Given the description of an element on the screen output the (x, y) to click on. 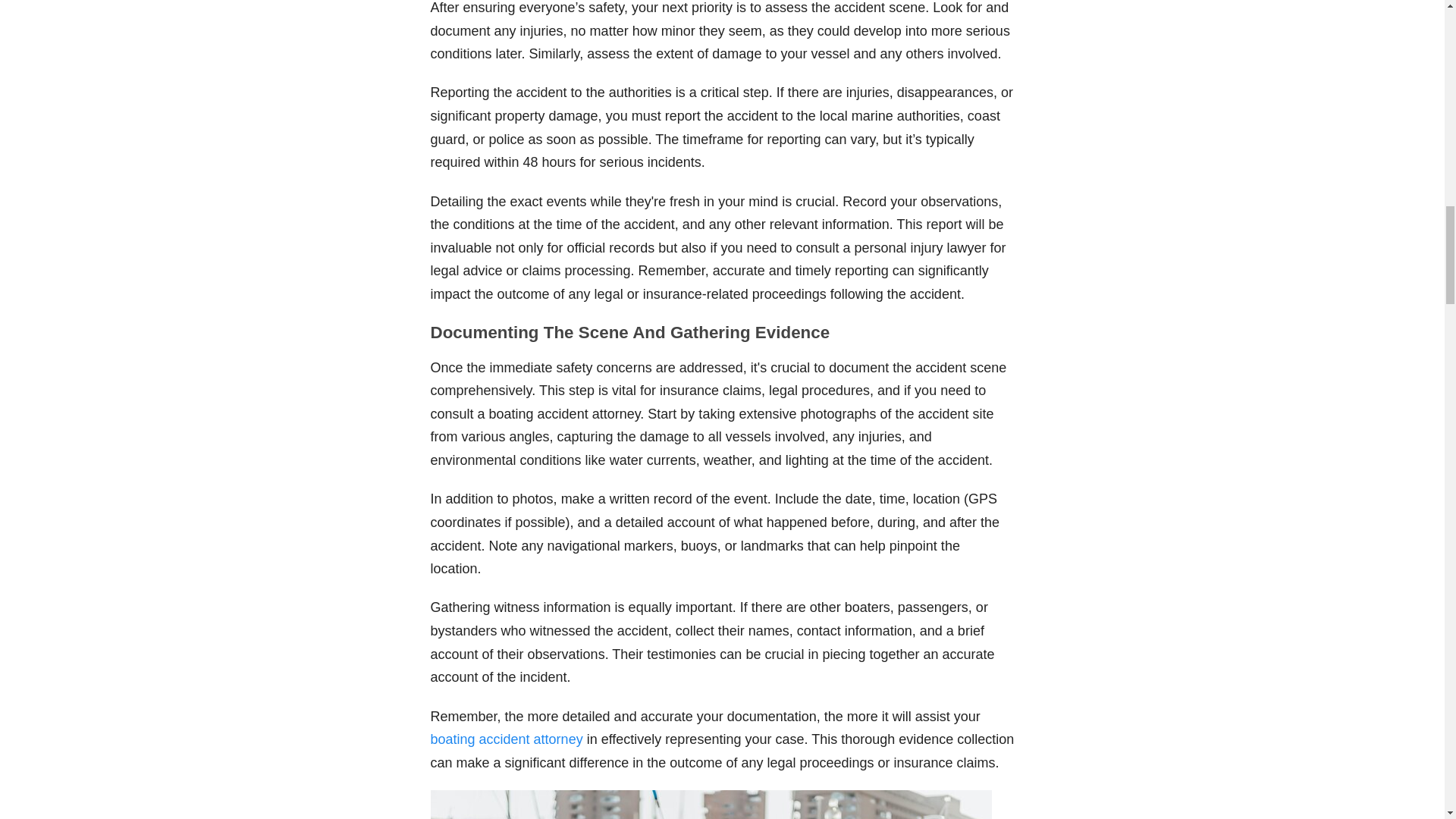
boating accident attorney (506, 739)
